Given the description of an element on the screen output the (x, y) to click on. 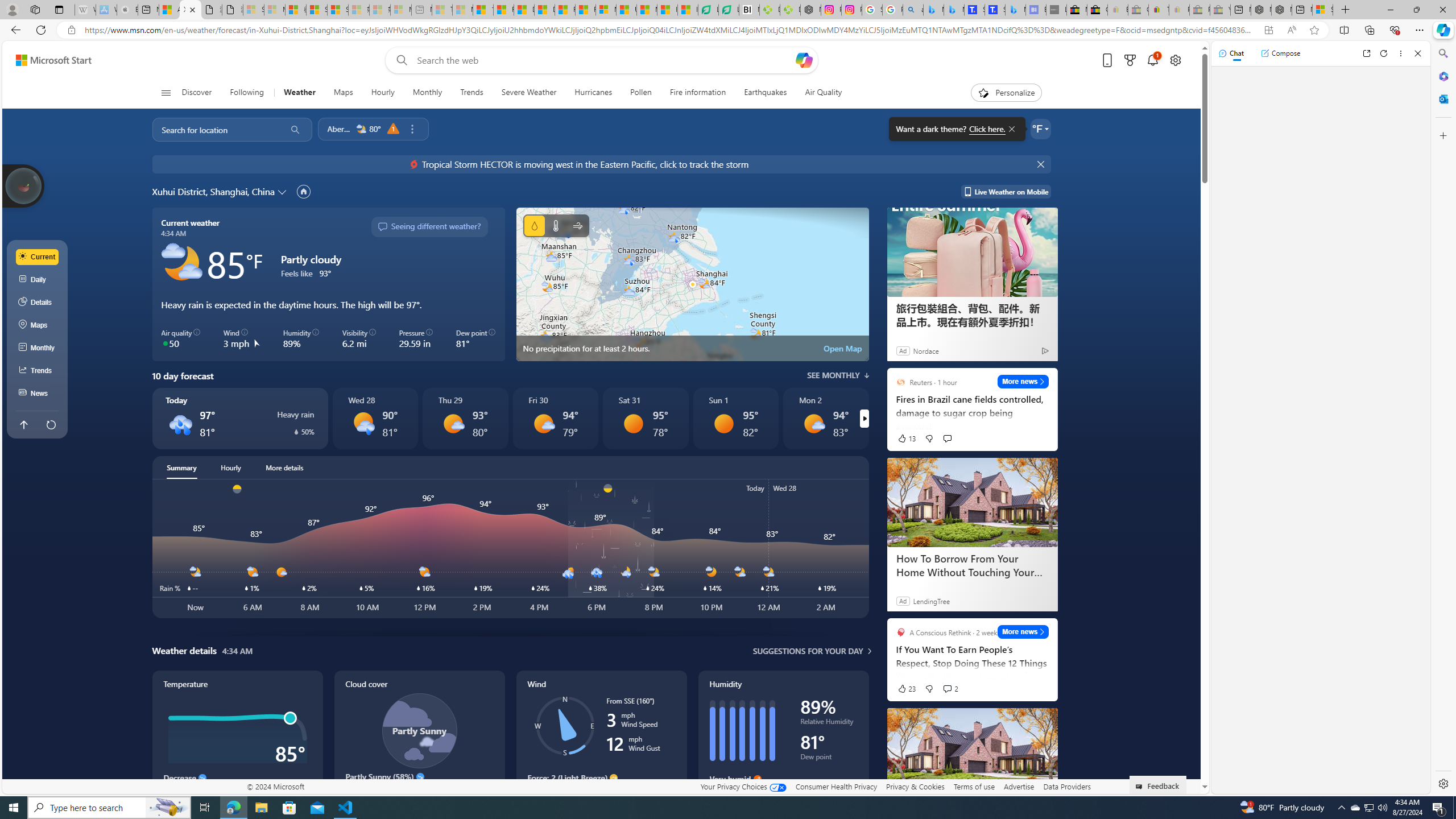
LendingTree - Compare Lenders (728, 9)
Back to top (23, 424)
Terms of use (973, 785)
Details (37, 302)
Microsoft rewards (1129, 60)
alabama high school quarterback dies - Search (913, 9)
No precipitation for at least 2 hours (692, 284)
Your Privacy Choices (743, 785)
Monthly (427, 92)
Hurricanes (593, 92)
